Given the description of an element on the screen output the (x, y) to click on. 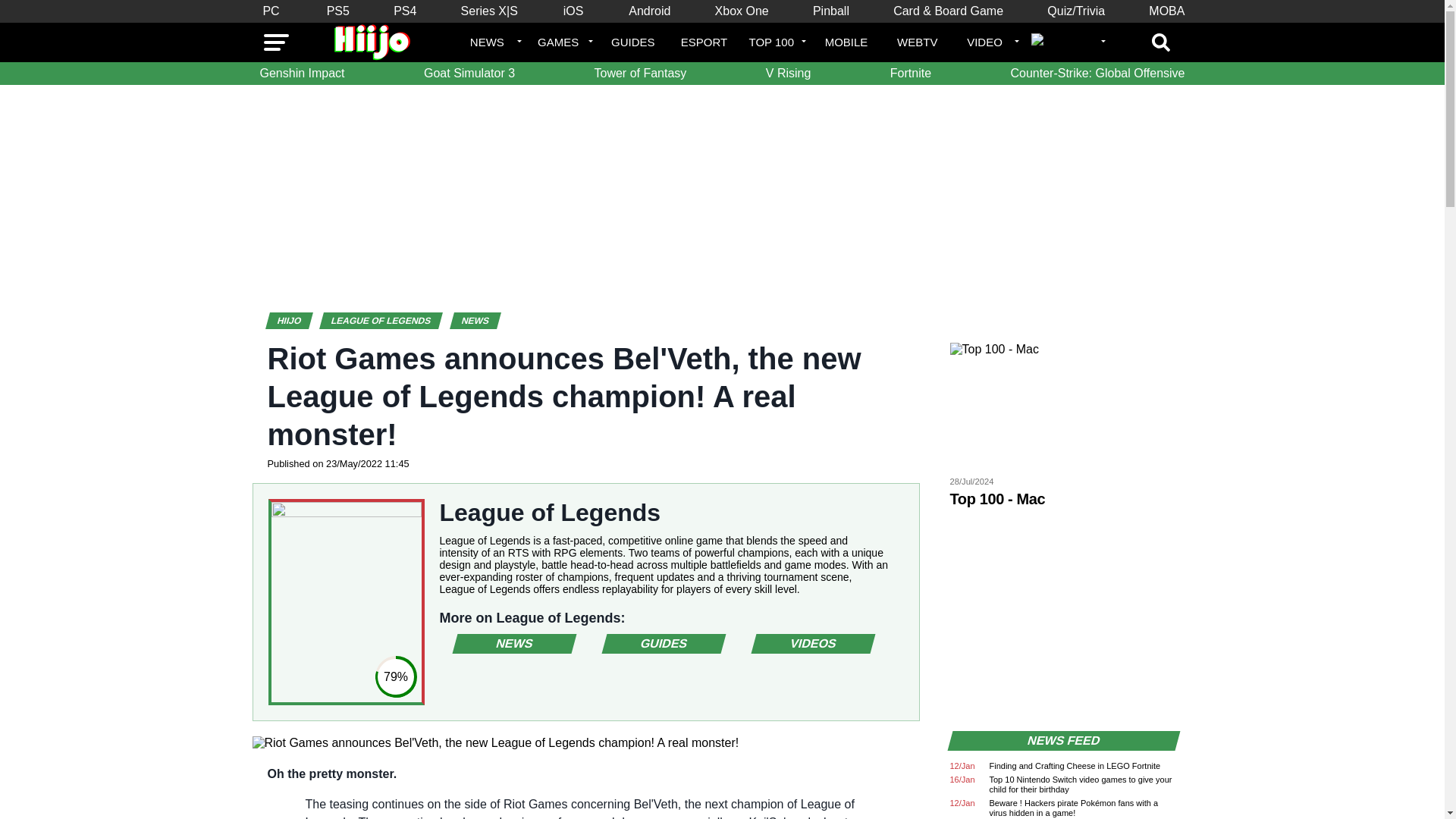
MOBA (1166, 11)
PlayStation 4 (404, 11)
V Rising (788, 73)
Pinball (831, 11)
Tower of Fantasy (640, 73)
News on League of Legends: (511, 643)
PlayStation 5 (337, 11)
Fortnite (910, 73)
Goat Simulator 3 (469, 73)
iOS (573, 11)
Xbox One (741, 11)
Android (649, 11)
Genshin Impact (301, 73)
Counter-Strike: Global Offensive (1097, 73)
Hiijo (296, 320)
